Given the description of an element on the screen output the (x, y) to click on. 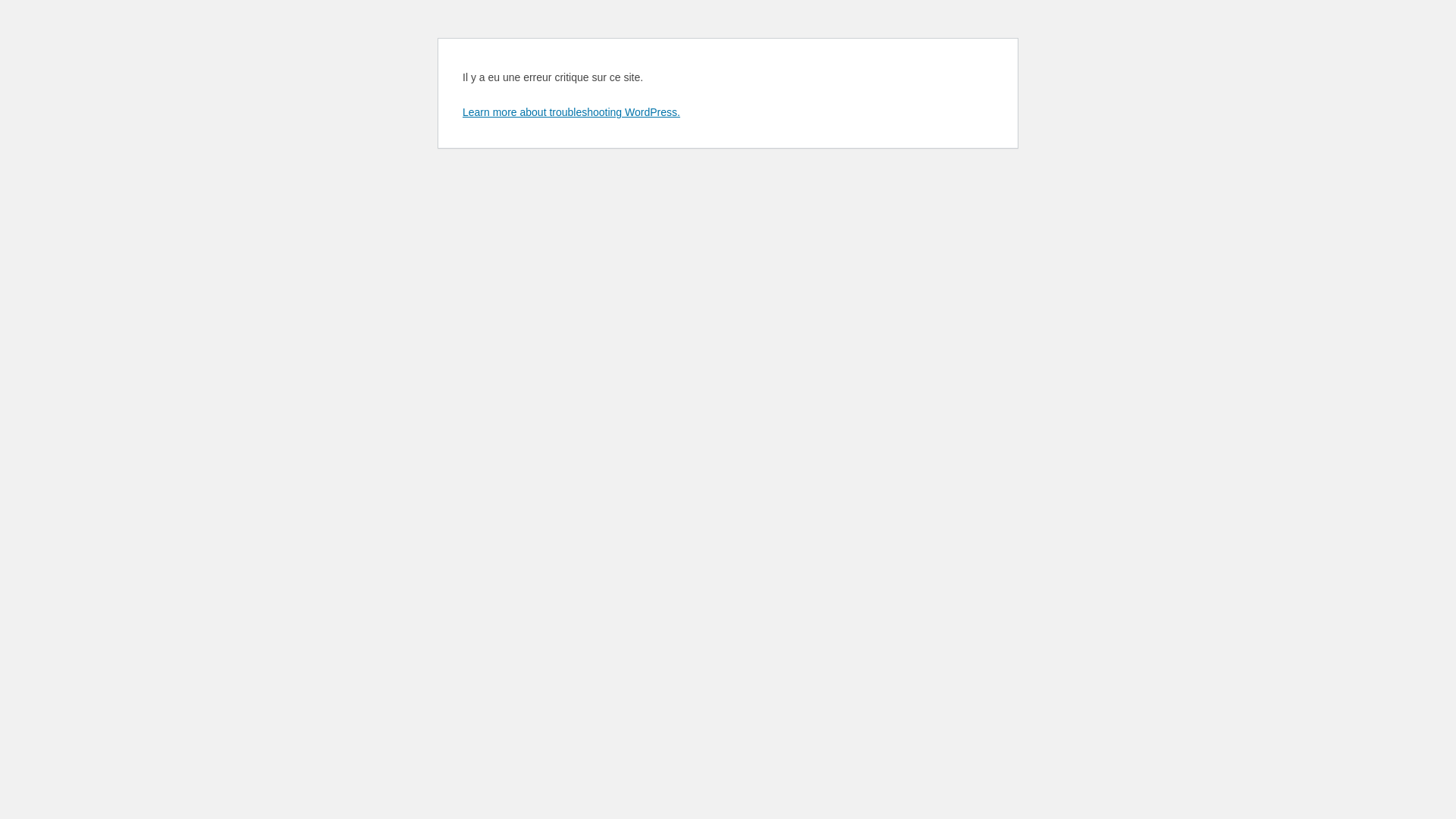
Learn more about troubleshooting WordPress. Element type: text (571, 112)
